Given the description of an element on the screen output the (x, y) to click on. 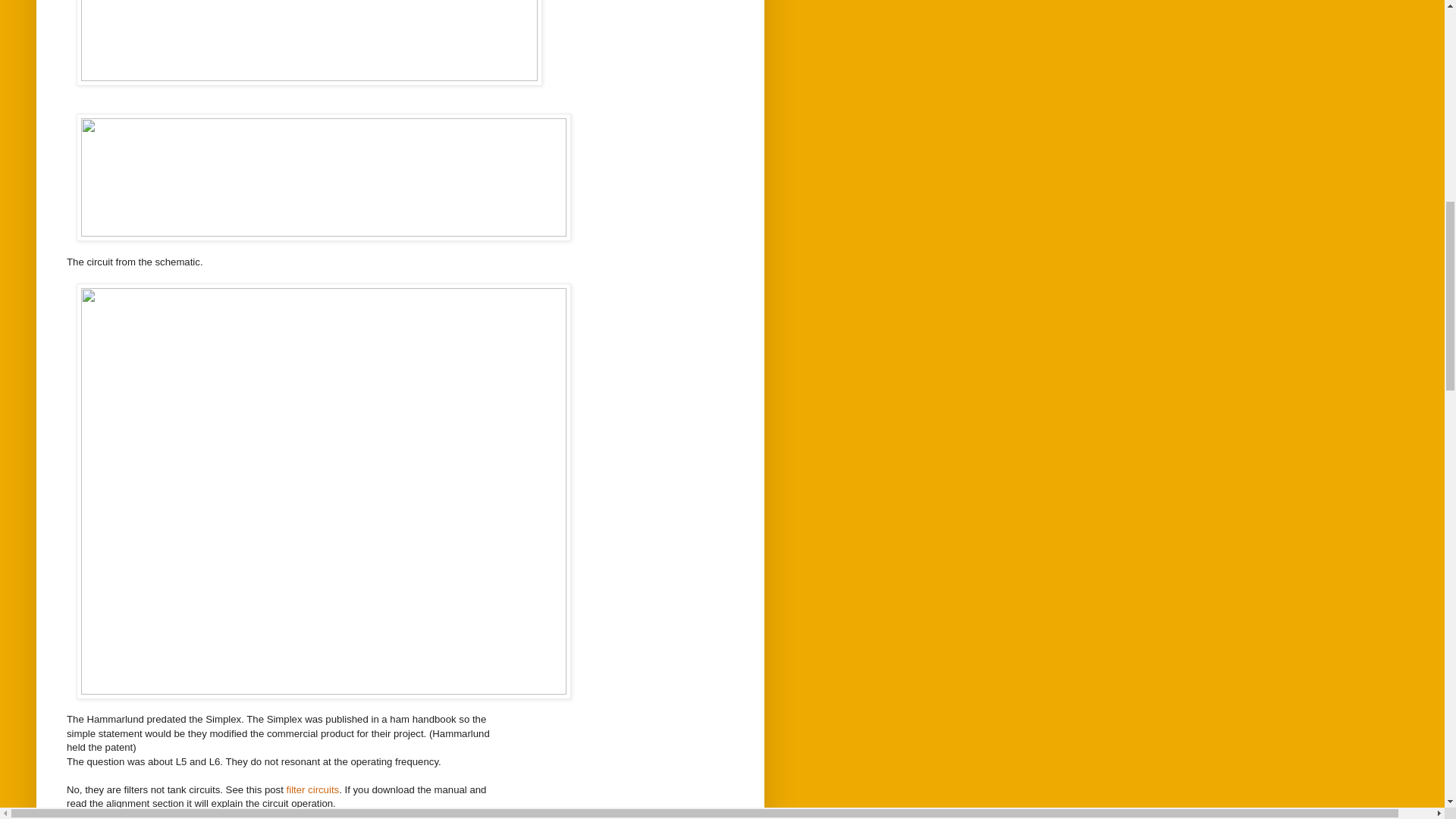
filter circuits (312, 789)
